Given the description of an element on the screen output the (x, y) to click on. 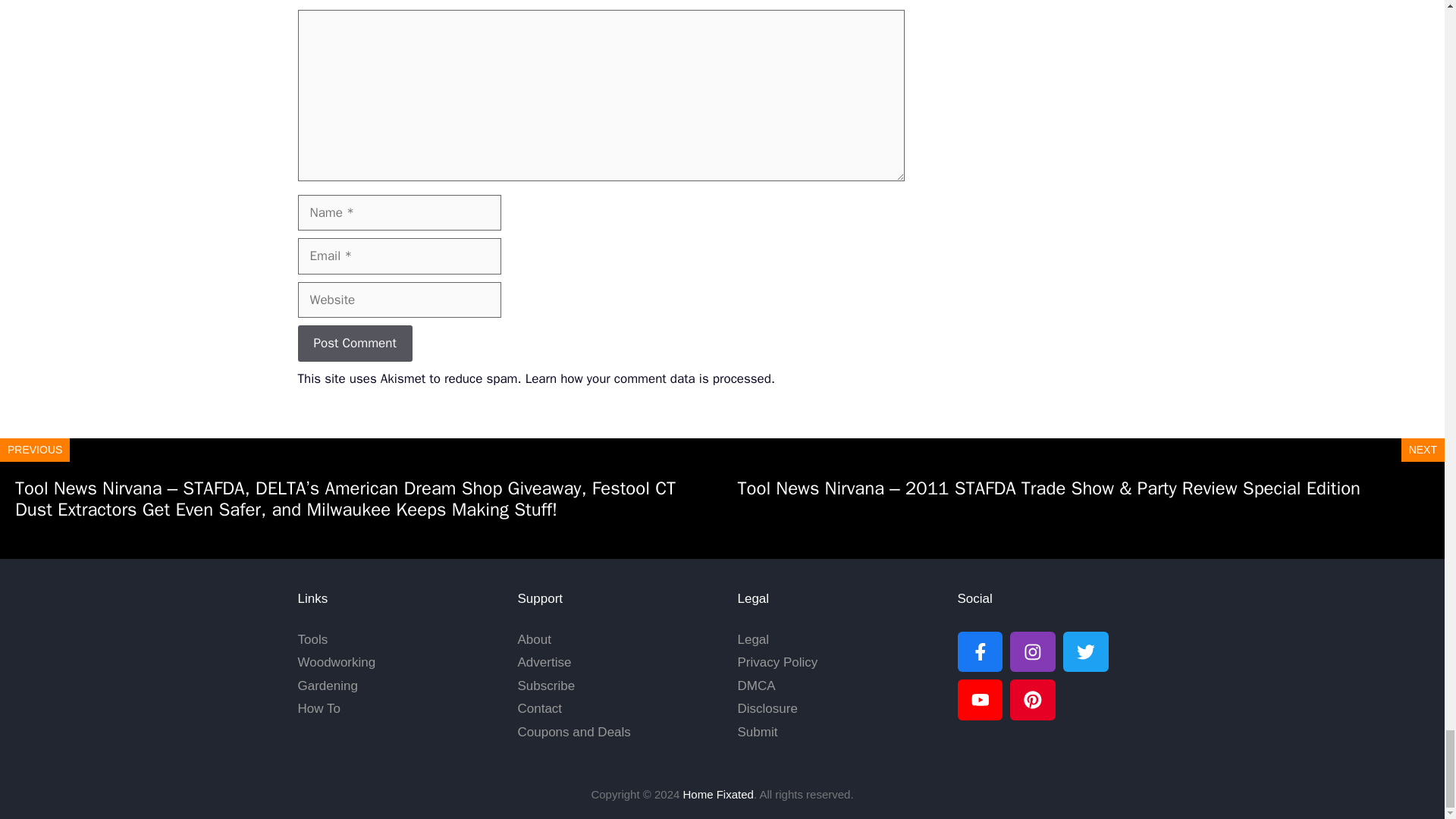
Post Comment (354, 343)
